Given the description of an element on the screen output the (x, y) to click on. 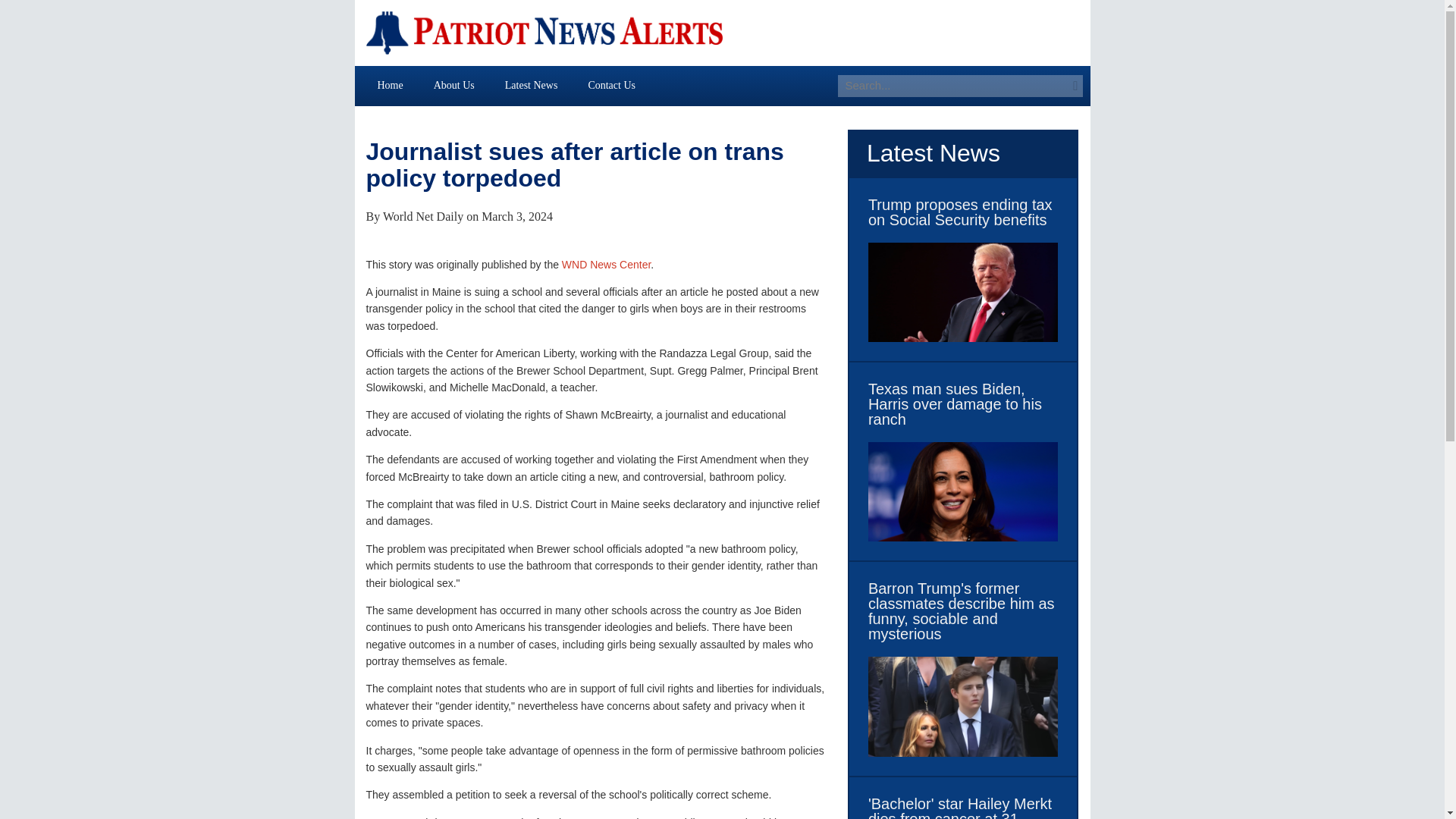
Trump proposes ending tax on Social Security benefits (962, 212)
Contact Us (611, 85)
Home (390, 85)
Texas man sues Biden, Harris over damage to his ranch (962, 403)
About Us (454, 85)
'Bachelor' star Hailey Merkt dies from cancer at 31 (962, 807)
WND News Center (606, 264)
Latest News (531, 85)
World Net Daily (422, 215)
Search for: (952, 86)
